Given the description of an element on the screen output the (x, y) to click on. 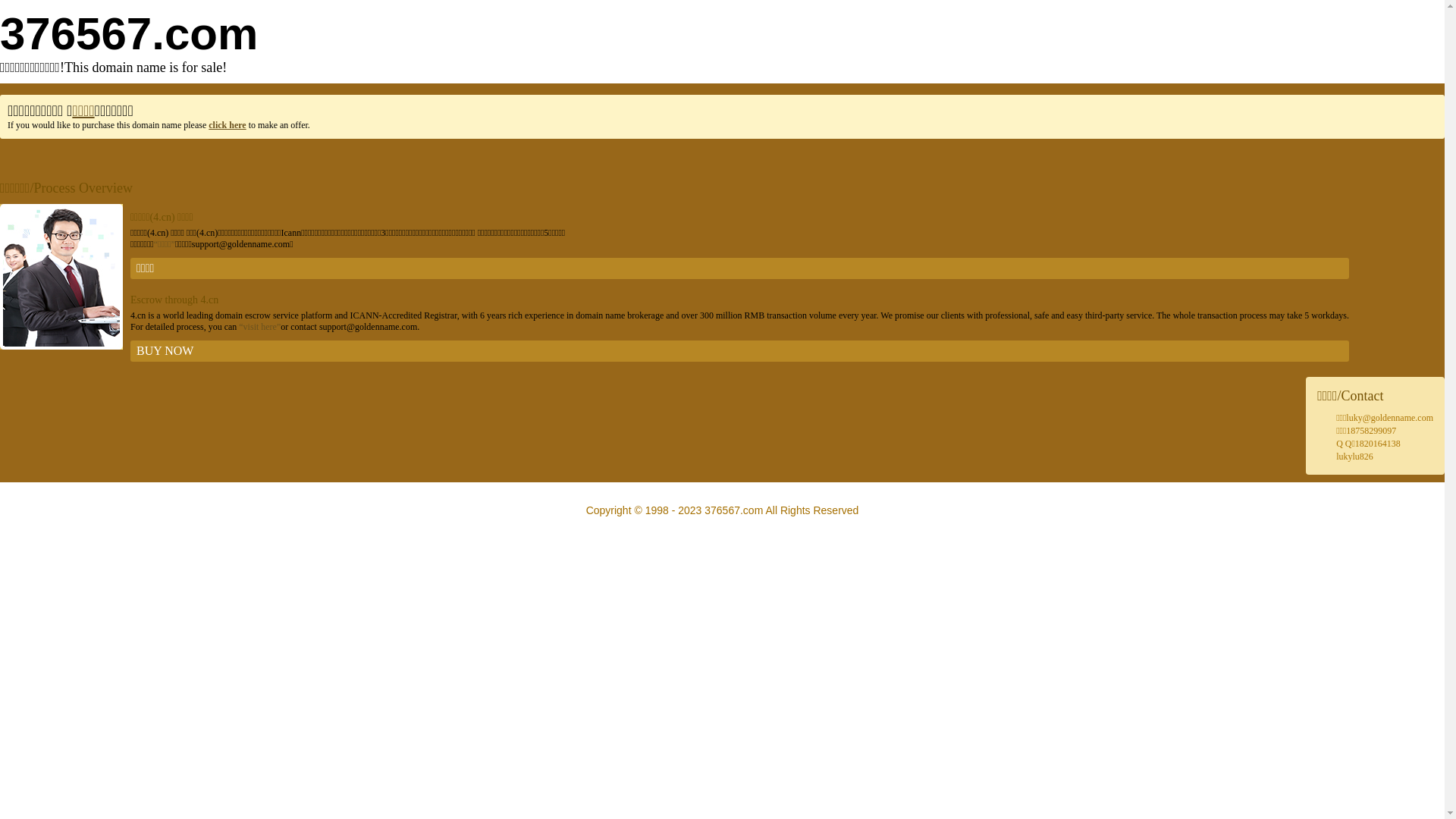
BUY NOW Element type: text (739, 350)
click here Element type: text (226, 124)
